Given the description of an element on the screen output the (x, y) to click on. 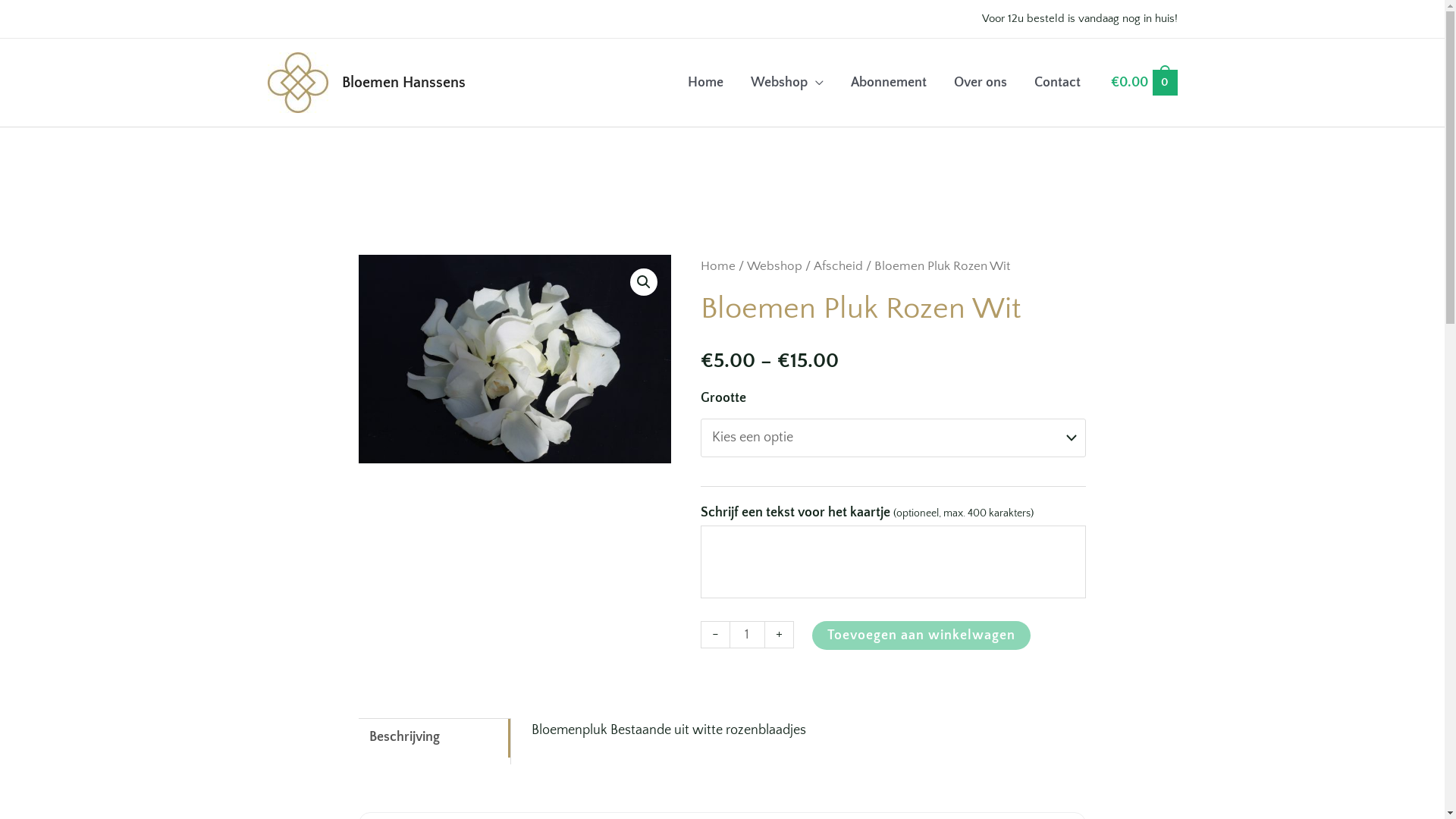
Toevoegen aan winkelwagen Element type: text (921, 635)
Home Element type: text (717, 266)
Webshop Element type: text (774, 266)
Webshop Element type: text (787, 82)
Home Element type: text (705, 82)
- Element type: text (714, 634)
Bloemen-pluk2 Element type: hover (514, 358)
Over ons Element type: text (980, 82)
Contact Element type: text (1057, 82)
Abonnement Element type: text (888, 82)
Beschrijving Element type: text (434, 737)
Afscheid Element type: text (837, 266)
Bloemen Hanssens Element type: text (402, 82)
+ Element type: text (779, 634)
